Given the description of an element on the screen output the (x, y) to click on. 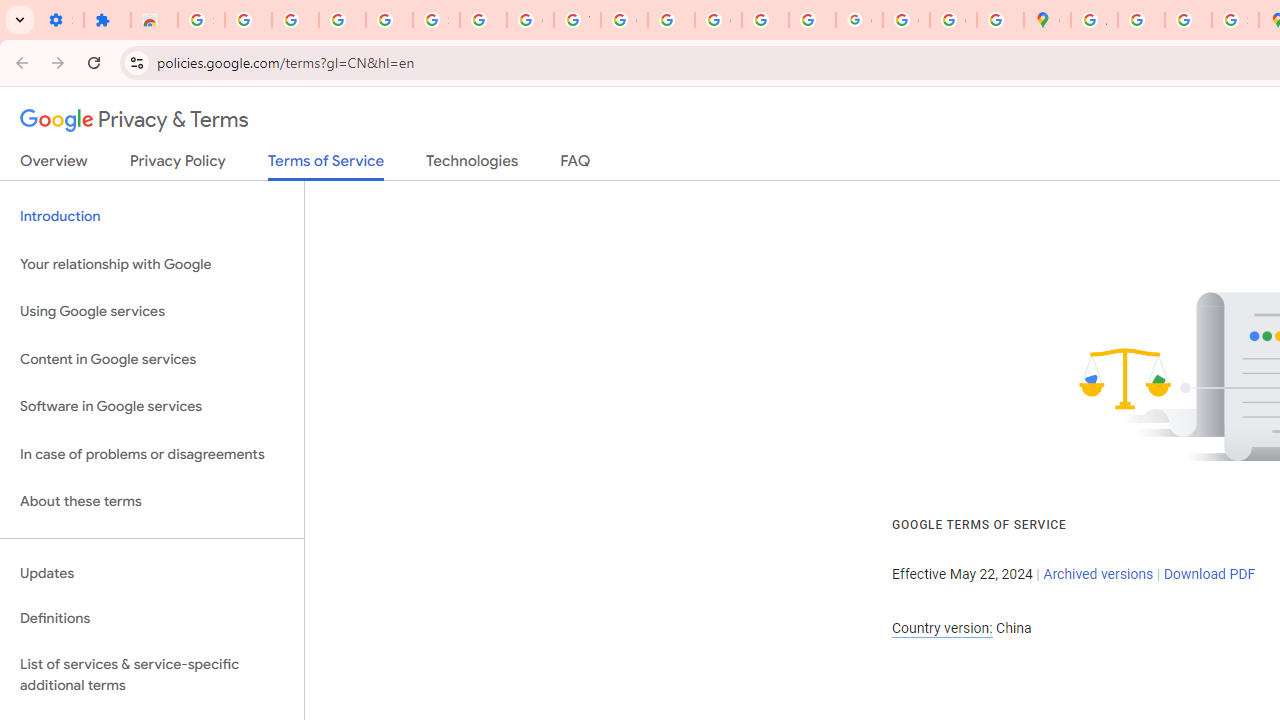
Definitions (152, 619)
Sign in - Google Accounts (436, 20)
Safety in Our Products - Google Safety Center (1235, 20)
